Given the description of an element on the screen output the (x, y) to click on. 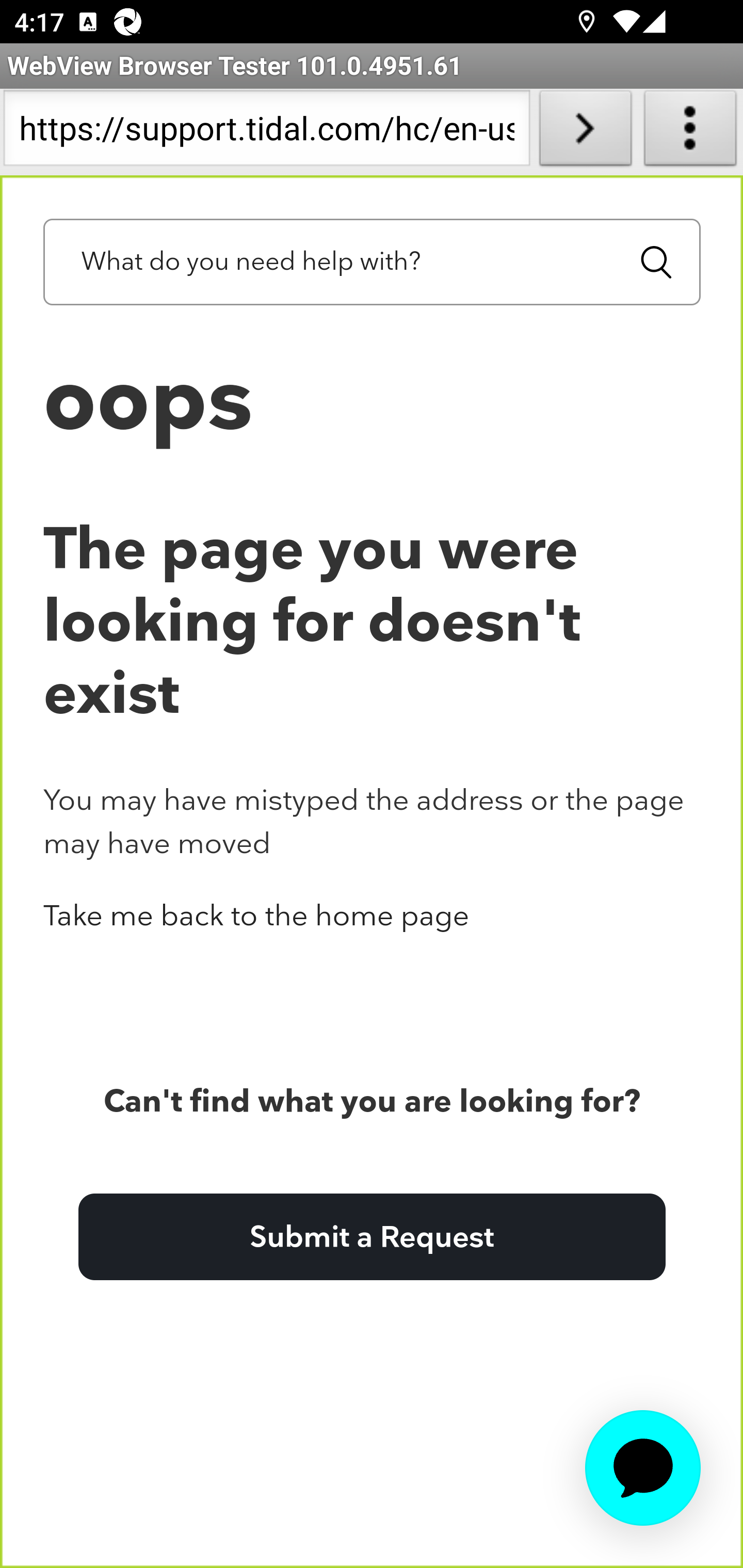
Load URL (585, 132)
About WebView (690, 132)
Take me back to the home page (256, 915)
Submit a Request (371, 1235)
